Given the description of an element on the screen output the (x, y) to click on. 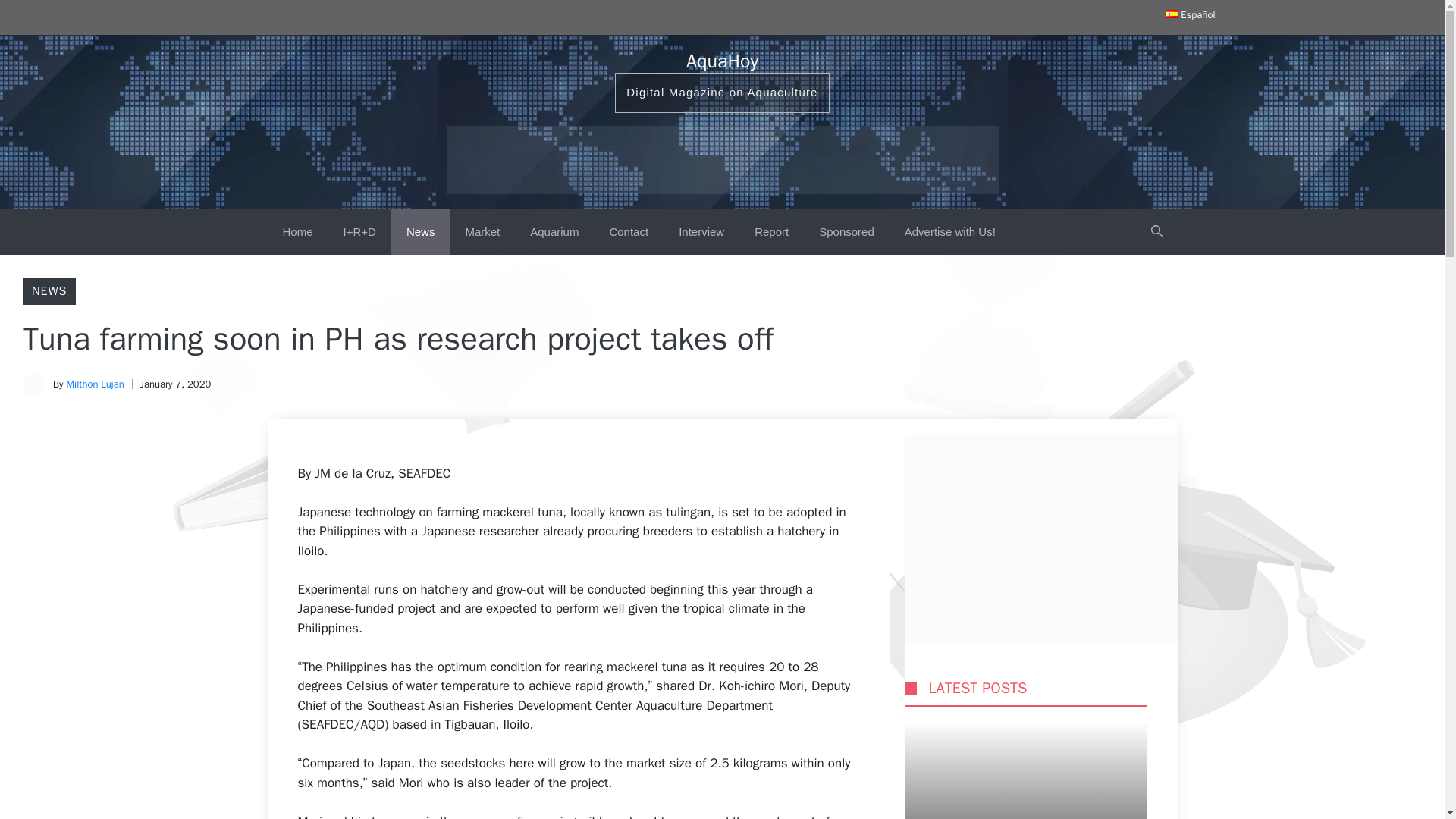
AquaHoy (721, 60)
Aquarium (554, 231)
Market (482, 231)
NEWS (49, 290)
Milthon Lujan (94, 383)
News (420, 231)
Home (296, 231)
Contact (628, 231)
Interview (701, 231)
Advertise with Us! (949, 231)
